Given the description of an element on the screen output the (x, y) to click on. 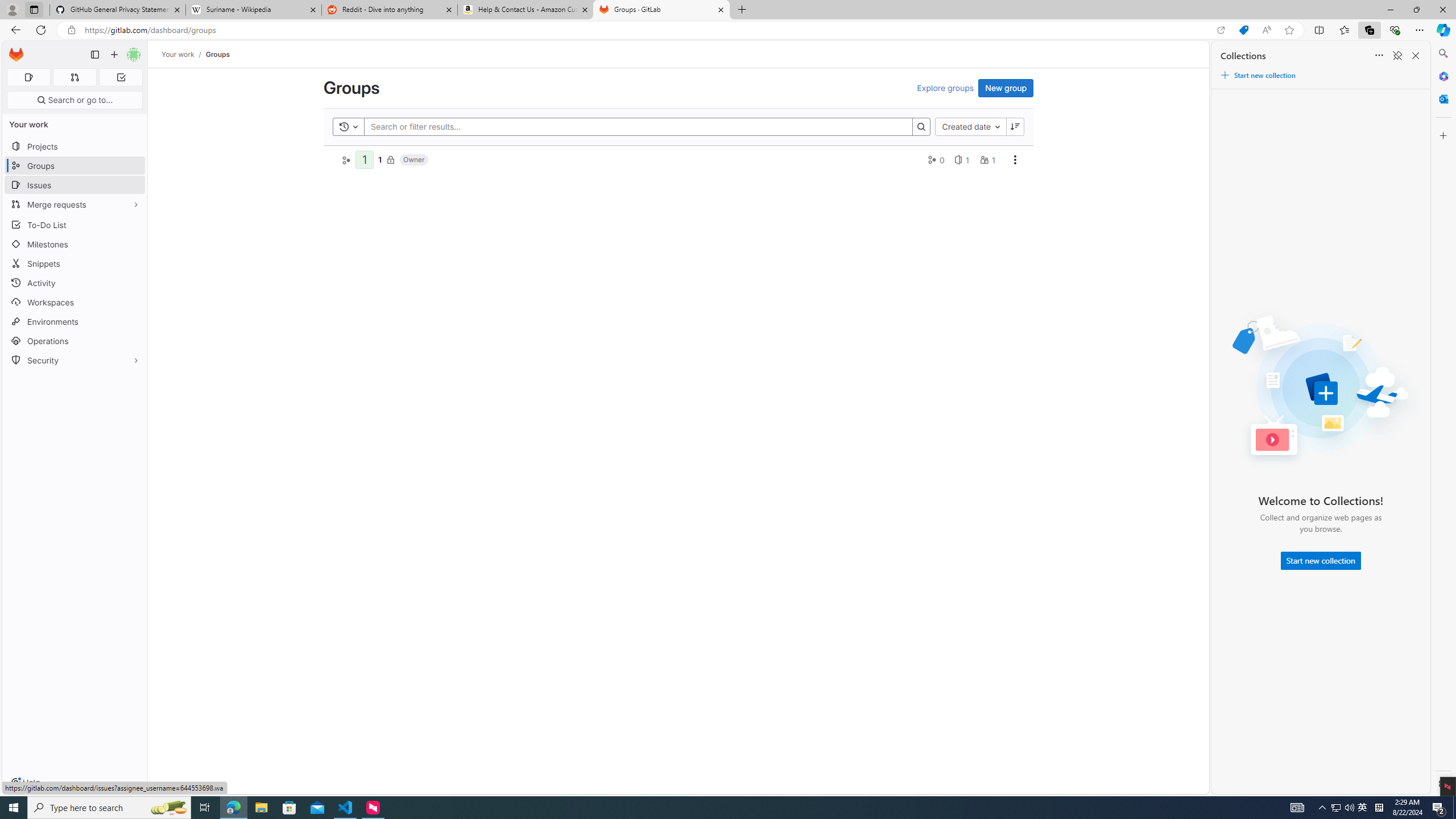
GitHub General Privacy Statement - GitHub Docs (117, 9)
Snippets (74, 262)
Environments (74, 321)
To-Do List (74, 224)
Create new... (113, 54)
Activity (74, 282)
Primary navigation sidebar (94, 54)
Unpin Collections (1397, 55)
